Given the description of an element on the screen output the (x, y) to click on. 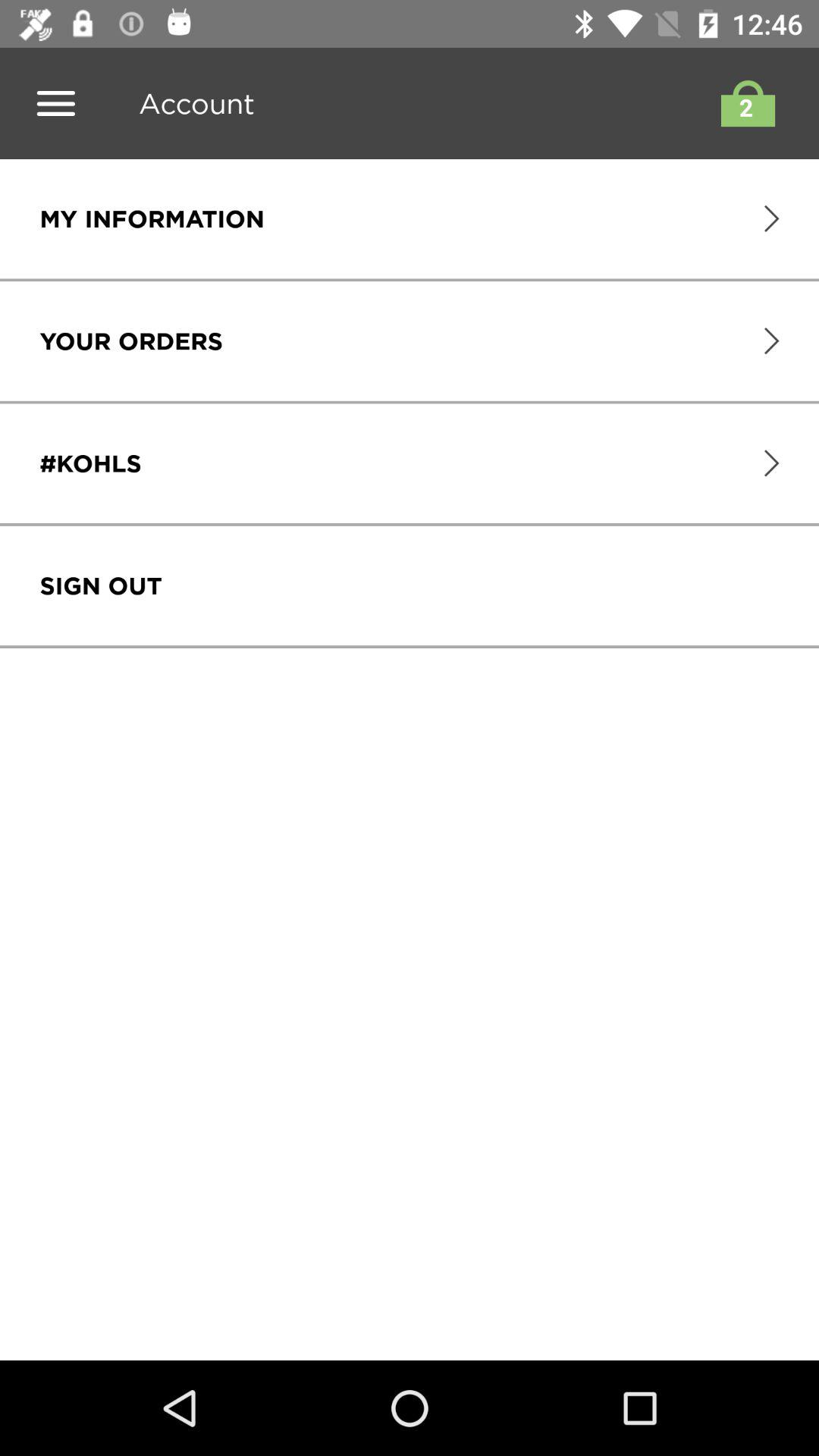
click item above your orders icon (151, 218)
